Given the description of an element on the screen output the (x, y) to click on. 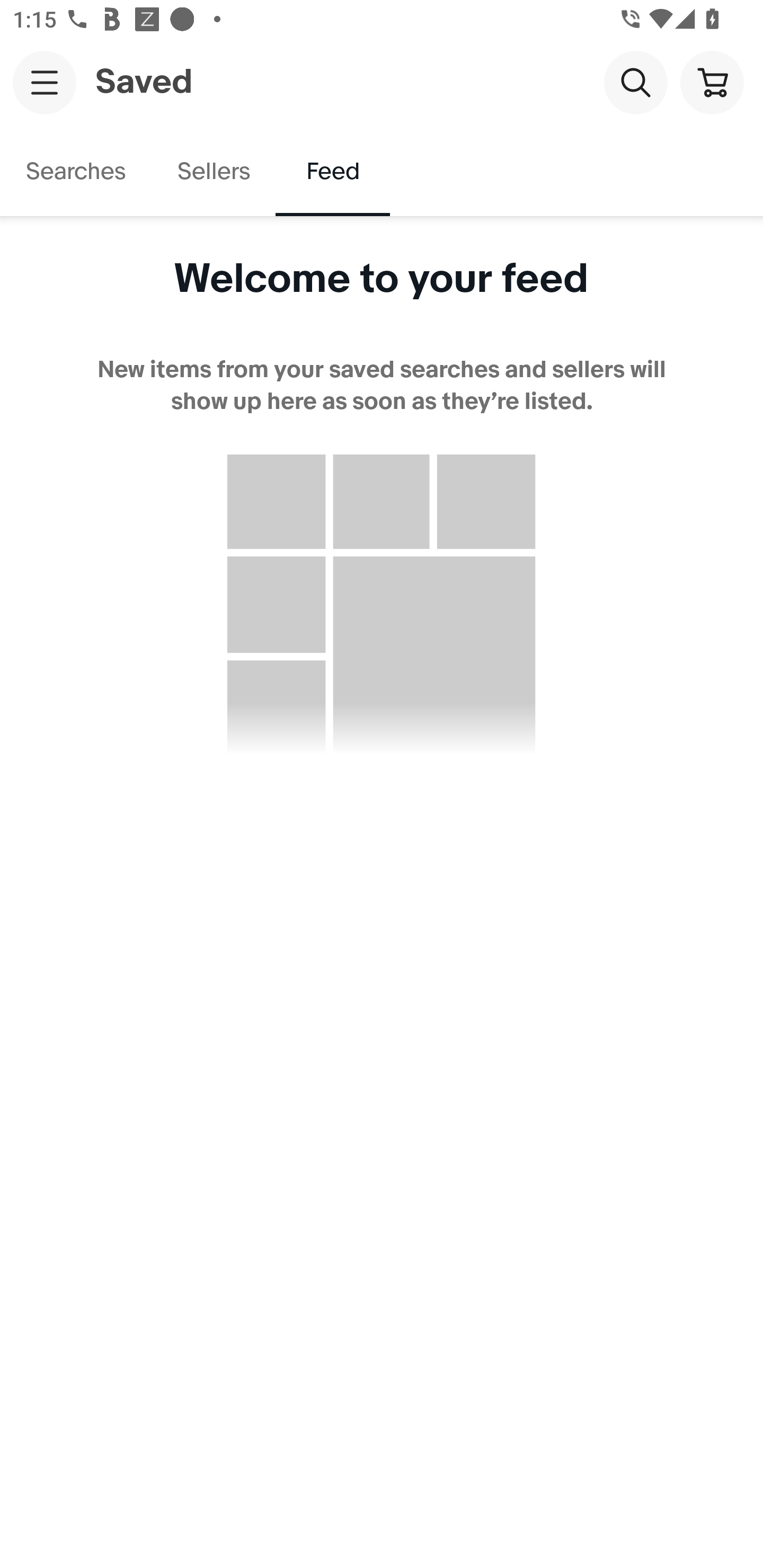
Main navigation, open (44, 82)
Search (635, 81)
Cart button shopping cart (711, 81)
Searches (75, 171)
Sellers (213, 171)
